Given the description of an element on the screen output the (x, y) to click on. 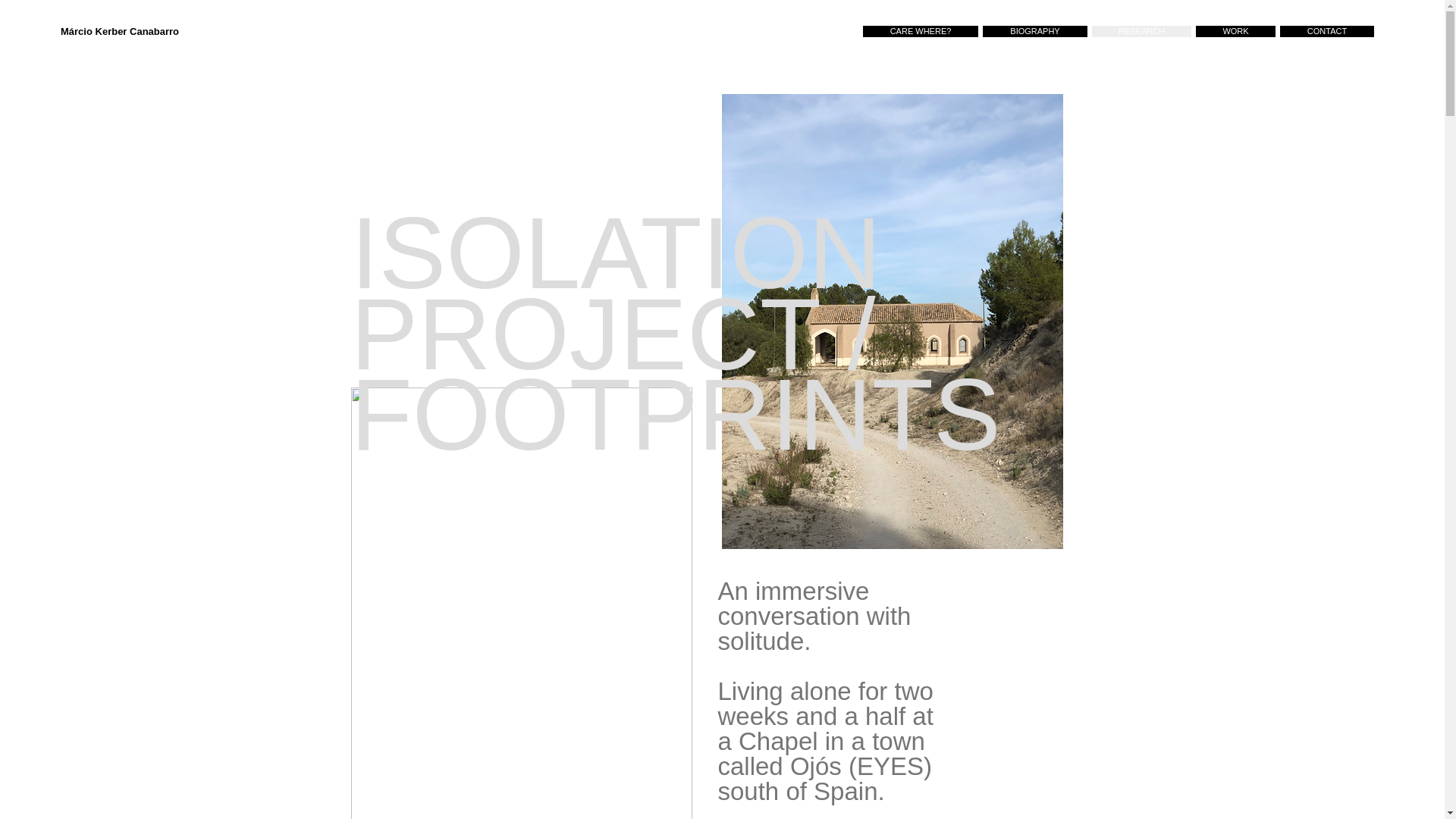
WORK (1235, 30)
BIOGRAPHY (1034, 30)
CARE WHERE? (920, 30)
RESEARCH (1141, 30)
CONTACT (1326, 30)
